Given the description of an element on the screen output the (x, y) to click on. 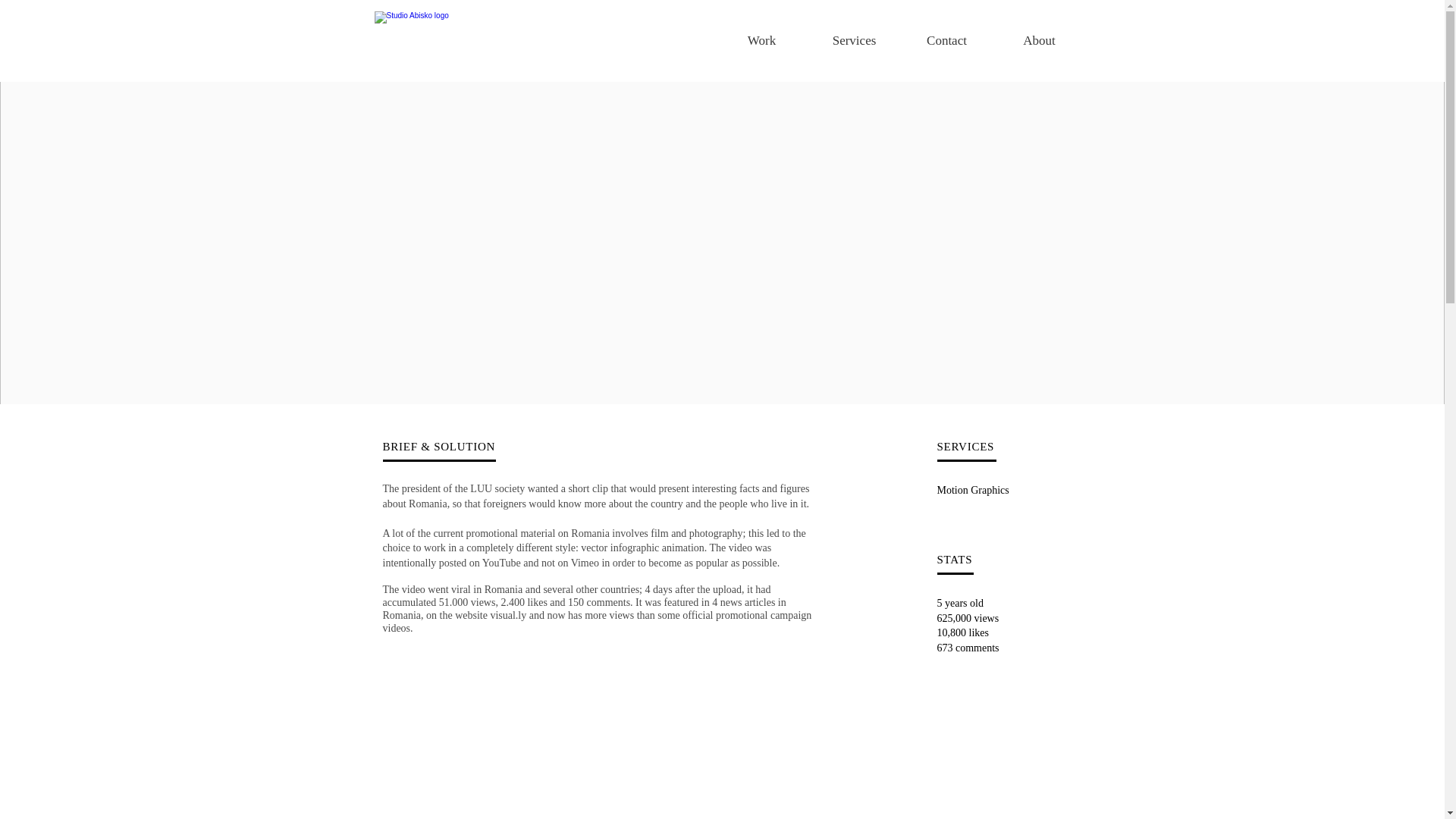
About (1039, 40)
External YouTube (721, 782)
Contact (947, 40)
Work (762, 40)
Services (854, 40)
